Given the description of an element on the screen output the (x, y) to click on. 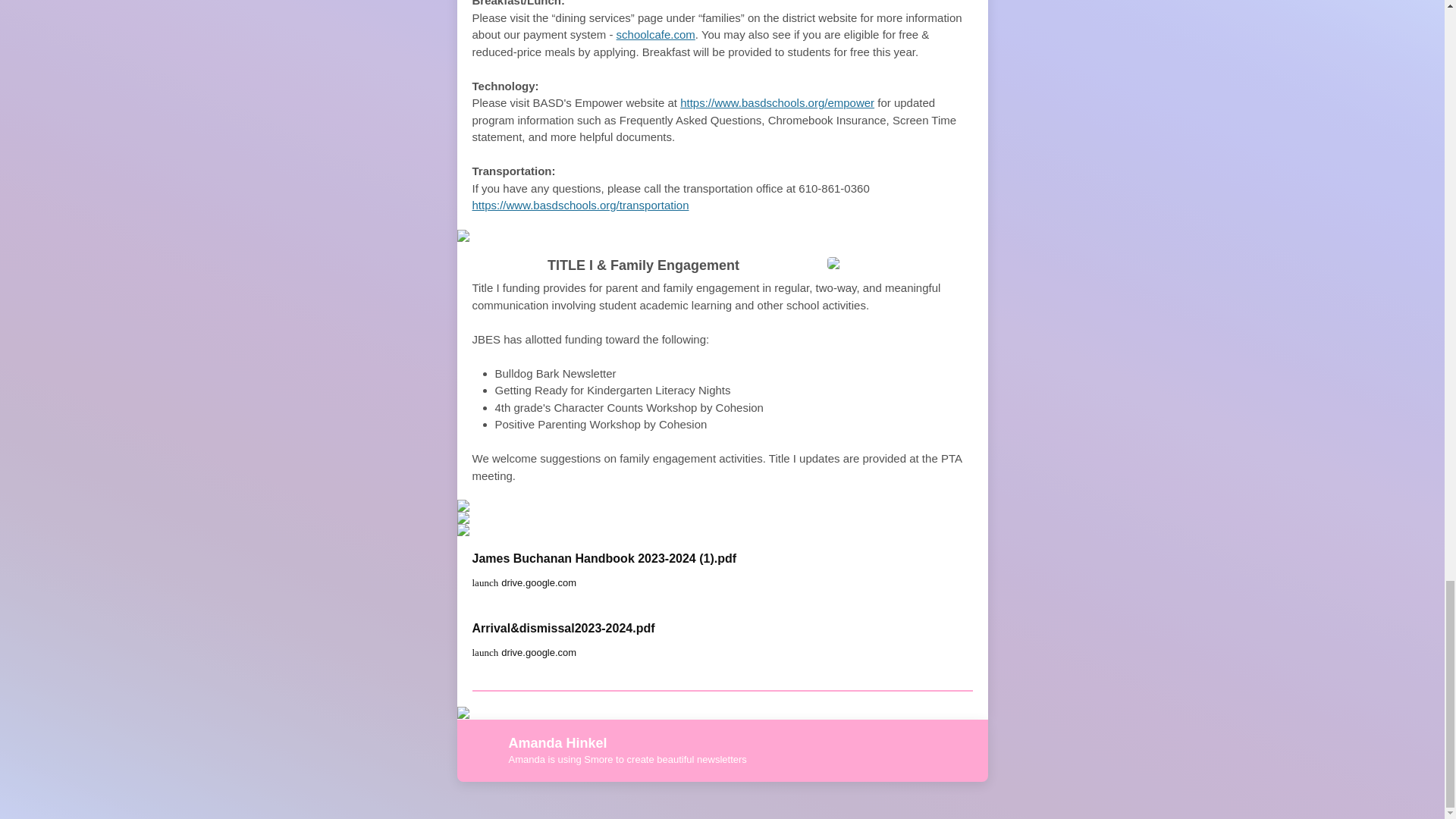
schoolcafe.com (655, 33)
